Given the description of an element on the screen output the (x, y) to click on. 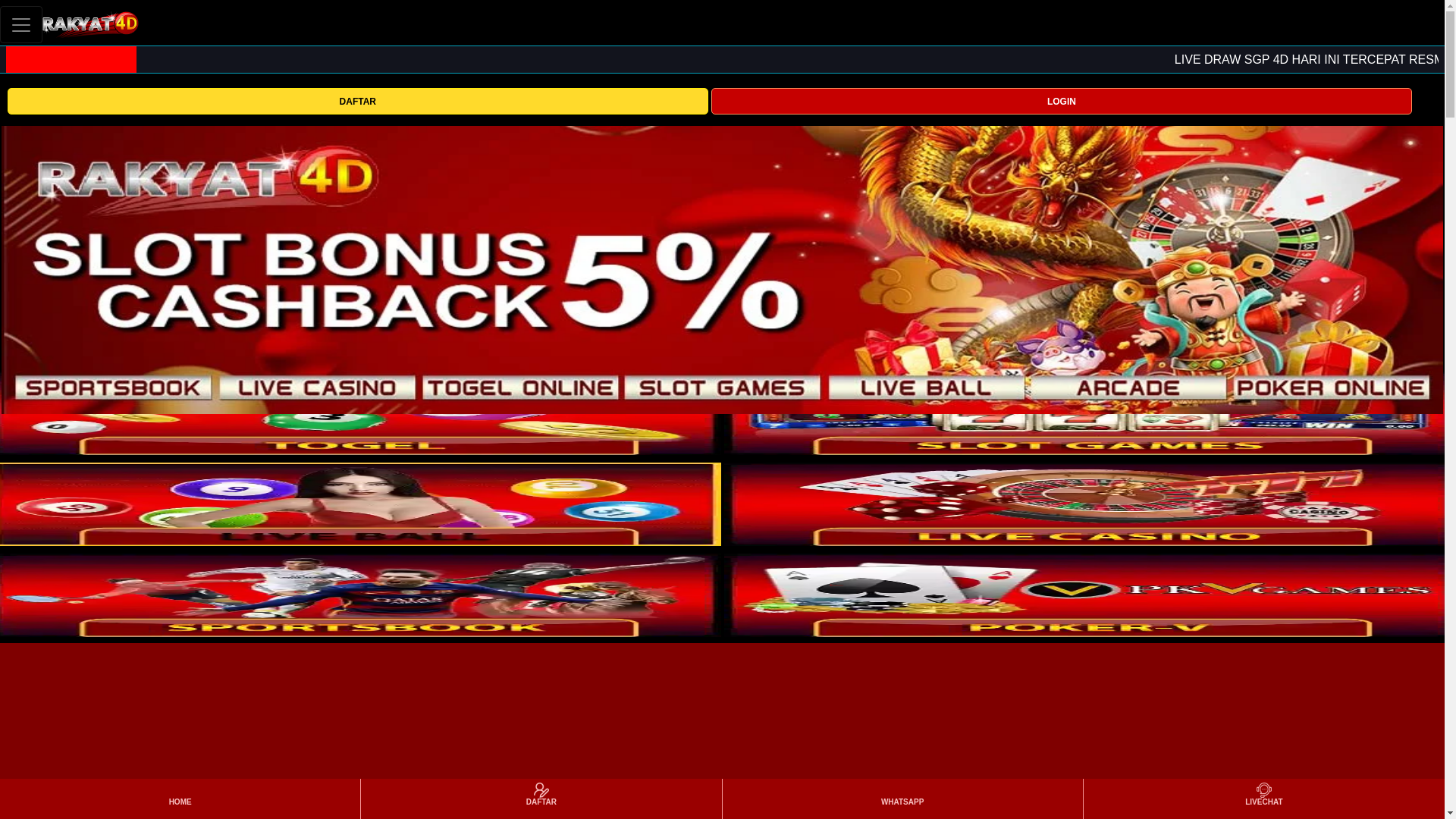
WHATSAPP (901, 798)
DAFTAR (357, 100)
LOGIN (1061, 100)
DAFTAR (357, 100)
LIVECHAT (1263, 798)
LOGIN (1061, 100)
HOME (179, 798)
DAFTAR (540, 798)
